Given the description of an element on the screen output the (x, y) to click on. 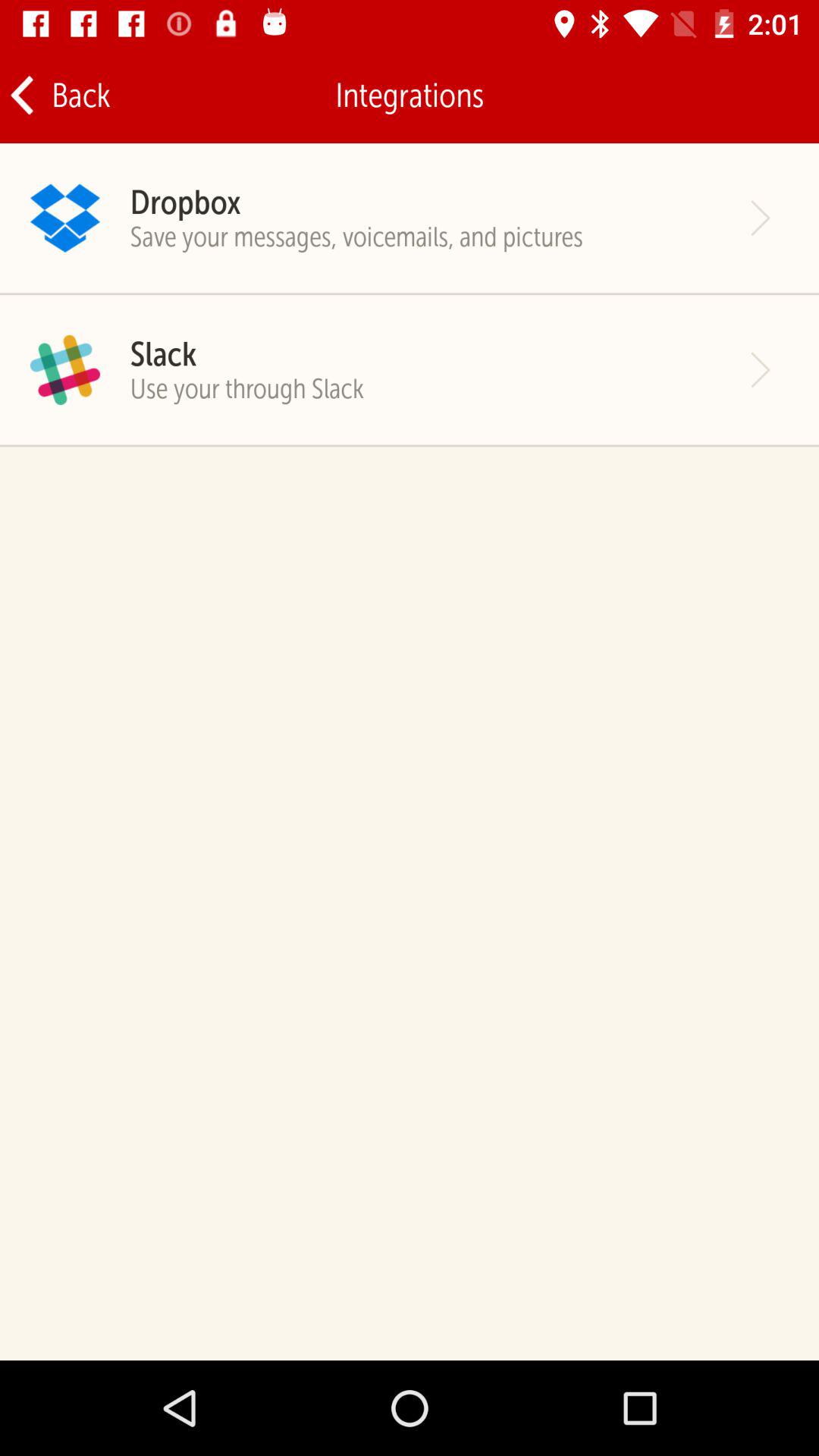
turn off the back (59, 95)
